Given the description of an element on the screen output the (x, y) to click on. 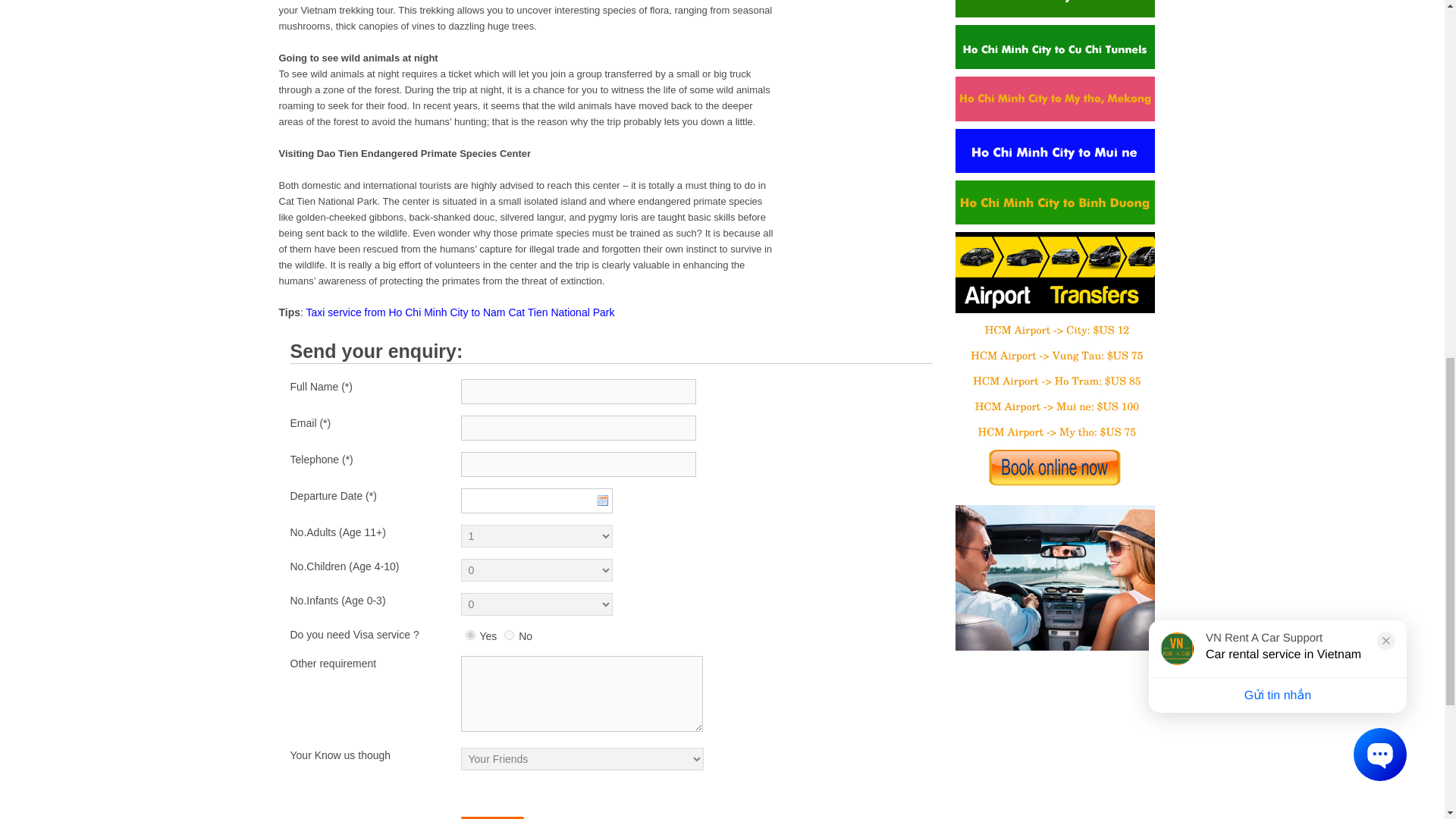
No (508, 634)
Yes (470, 634)
